Given the description of an element on the screen output the (x, y) to click on. 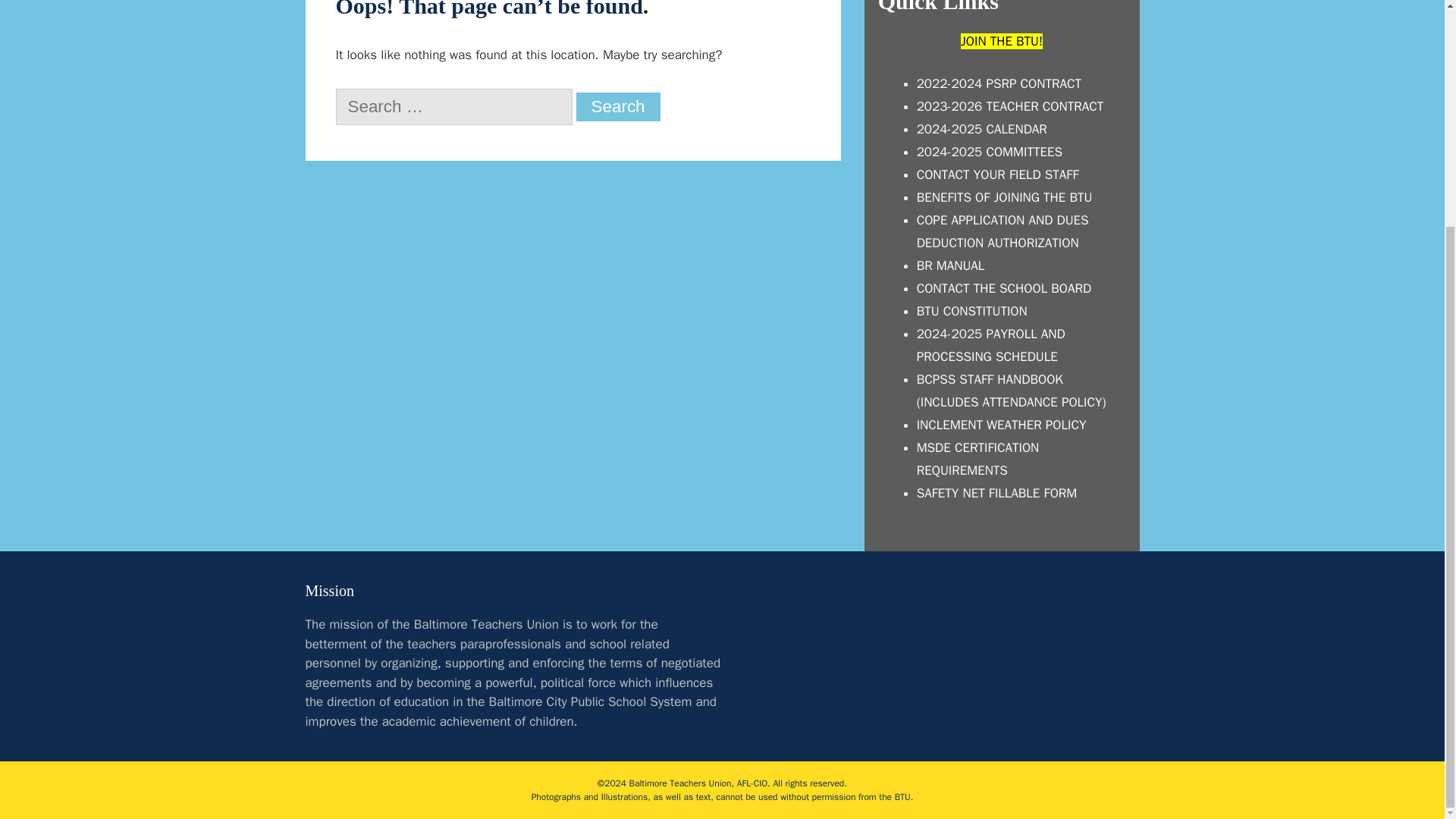
Search for: (453, 106)
Search (618, 106)
Search (618, 106)
